Given the description of an element on the screen output the (x, y) to click on. 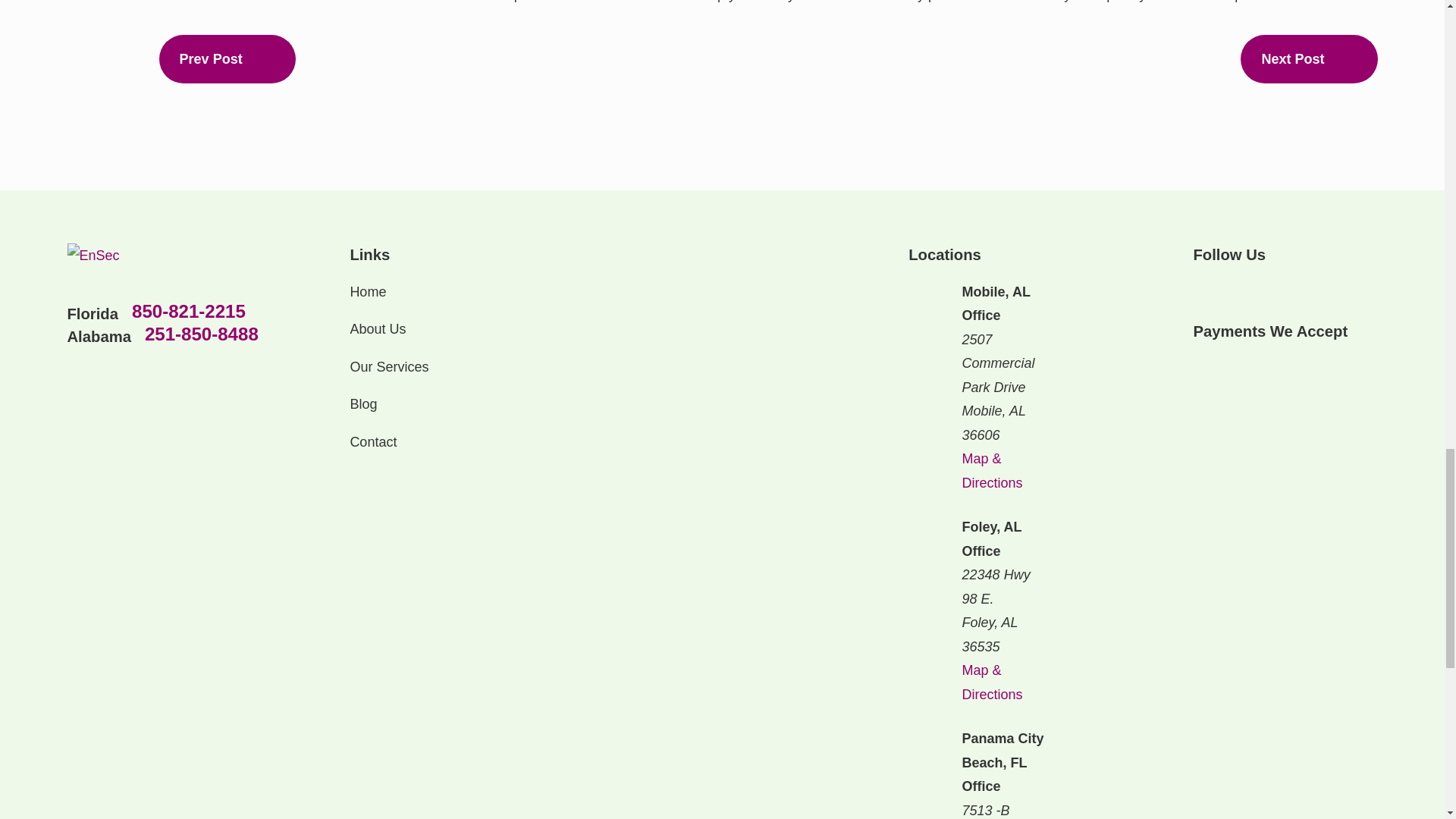
Home (161, 255)
Yelp (1242, 289)
MasterCard (1268, 363)
AMEX (1233, 363)
LinkedIn (1202, 289)
Google Business Profile (1281, 289)
Visa (1200, 363)
